Given the description of an element on the screen output the (x, y) to click on. 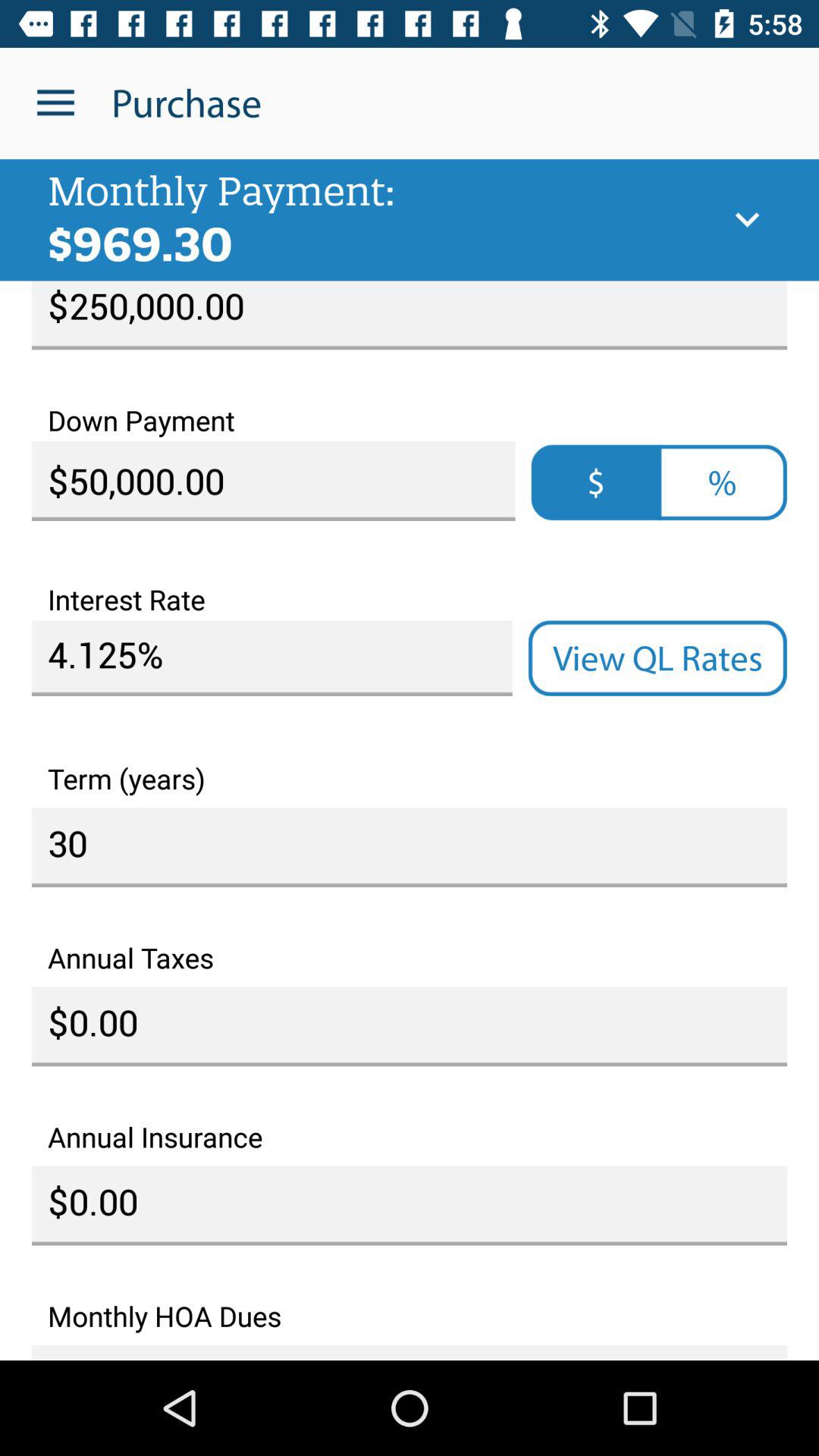
launch the icon below the purchase (747, 219)
